Given the description of an element on the screen output the (x, y) to click on. 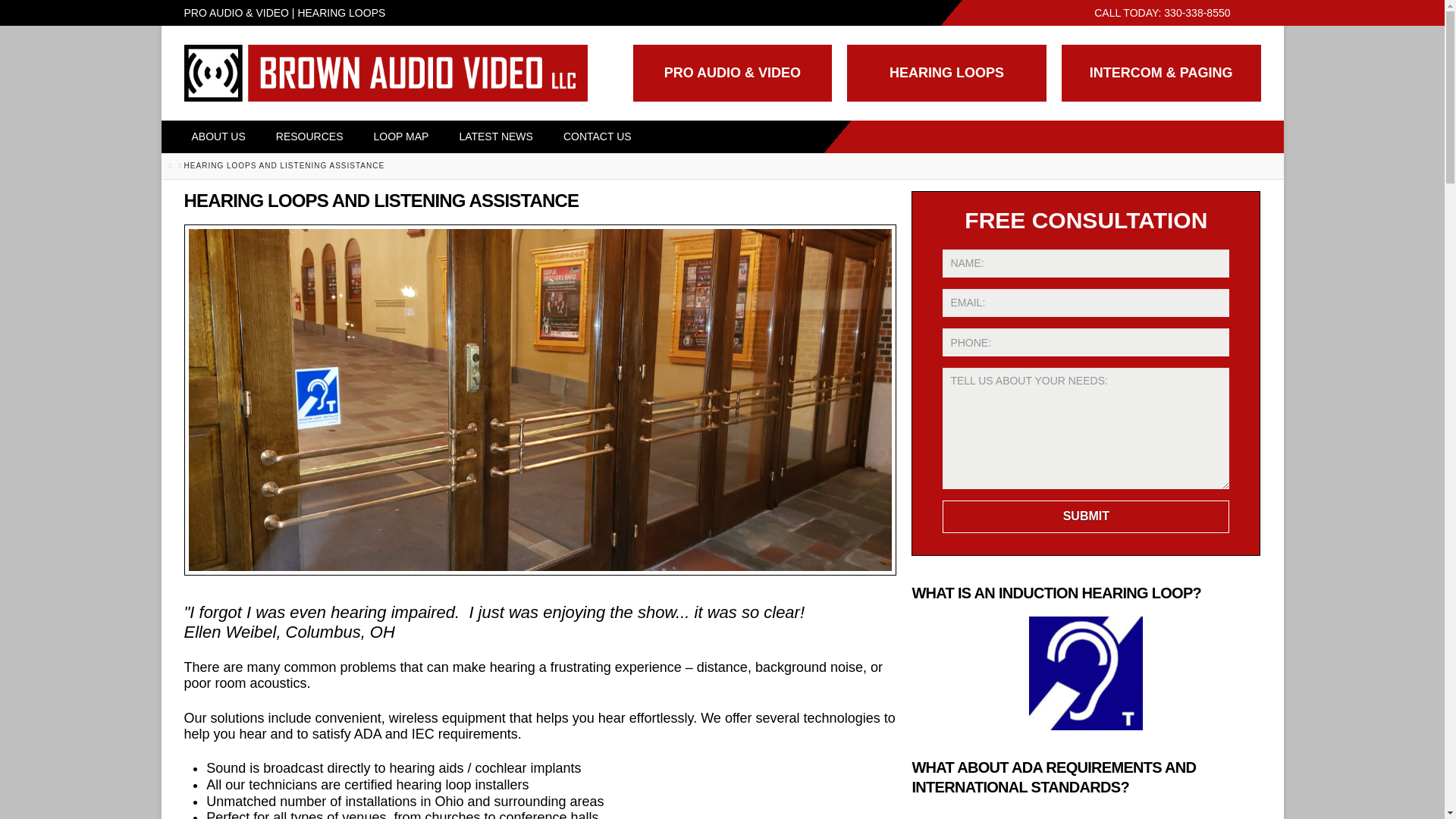
LOOP MAP (400, 136)
Submit (1085, 516)
ABOUT US (217, 136)
You Are Here (284, 165)
CONTACT US (597, 136)
LATEST NEWS (495, 136)
HEARING LOOPS (946, 73)
330-338-8550 (1196, 12)
RESOURCES (309, 136)
HEARING LOOPS AND LISTENING ASSISTANCE (284, 165)
Submit (1085, 516)
